Given the description of an element on the screen output the (x, y) to click on. 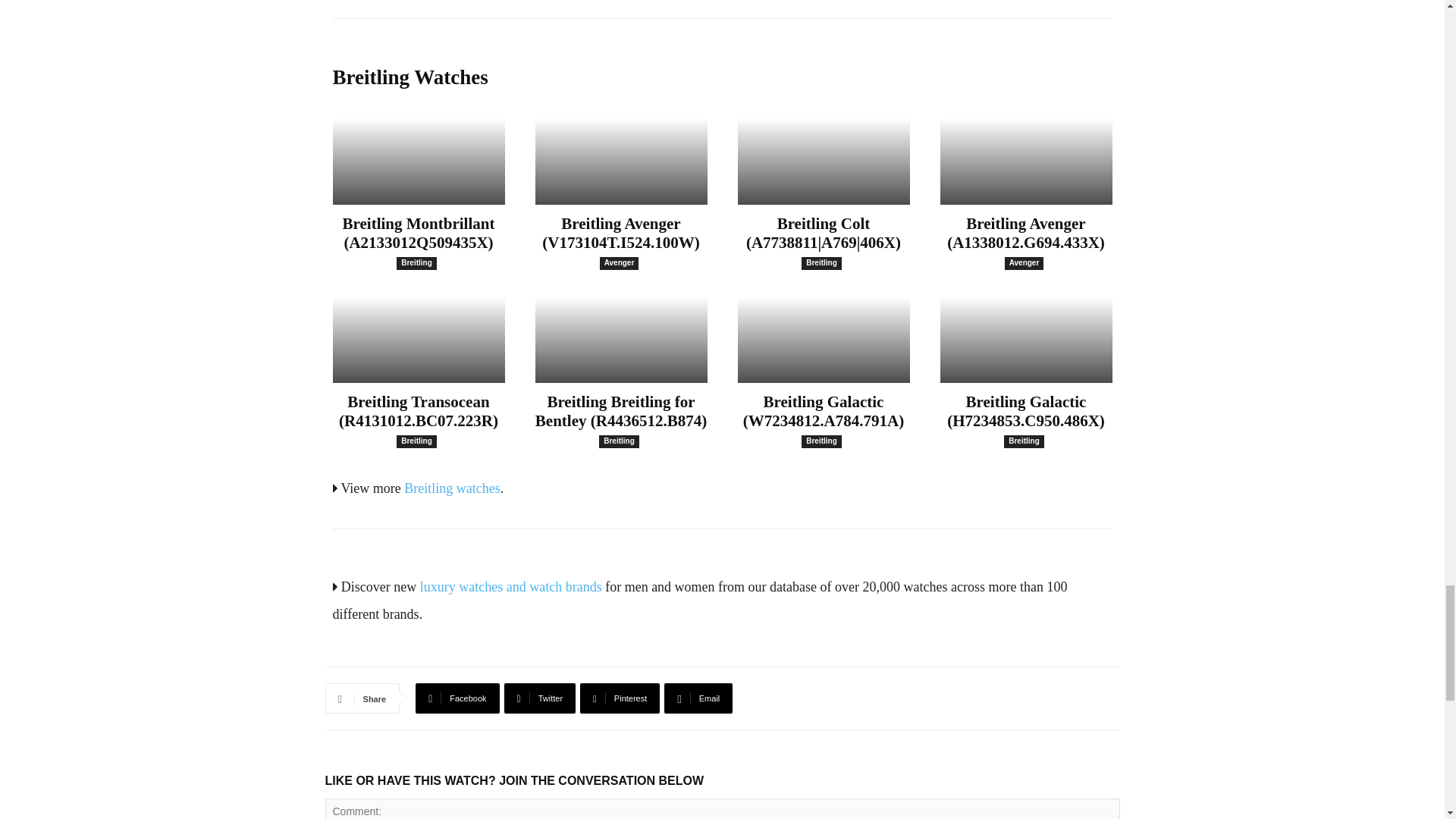
Avenger (619, 263)
Avenger (1023, 263)
Breitling (416, 263)
Breitling (821, 263)
Breitling (416, 440)
Breitling (618, 440)
